Given the description of an element on the screen output the (x, y) to click on. 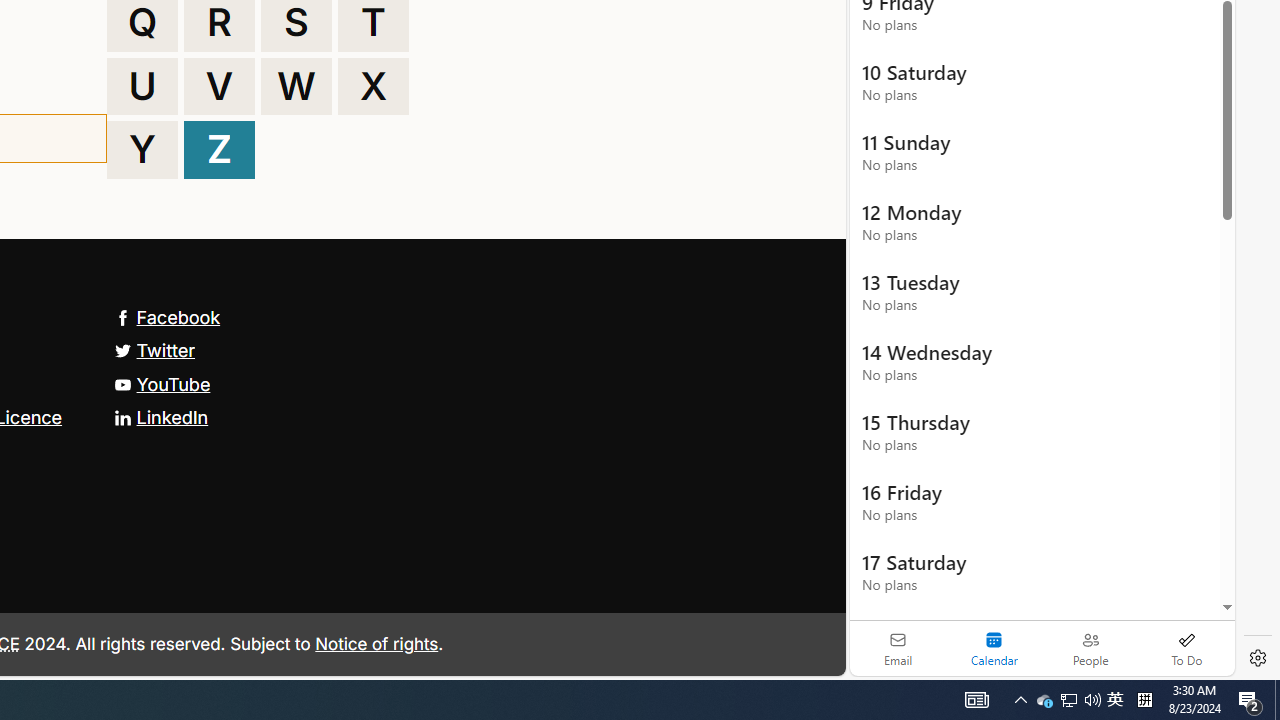
Y (142, 149)
